Given the description of an element on the screen output the (x, y) to click on. 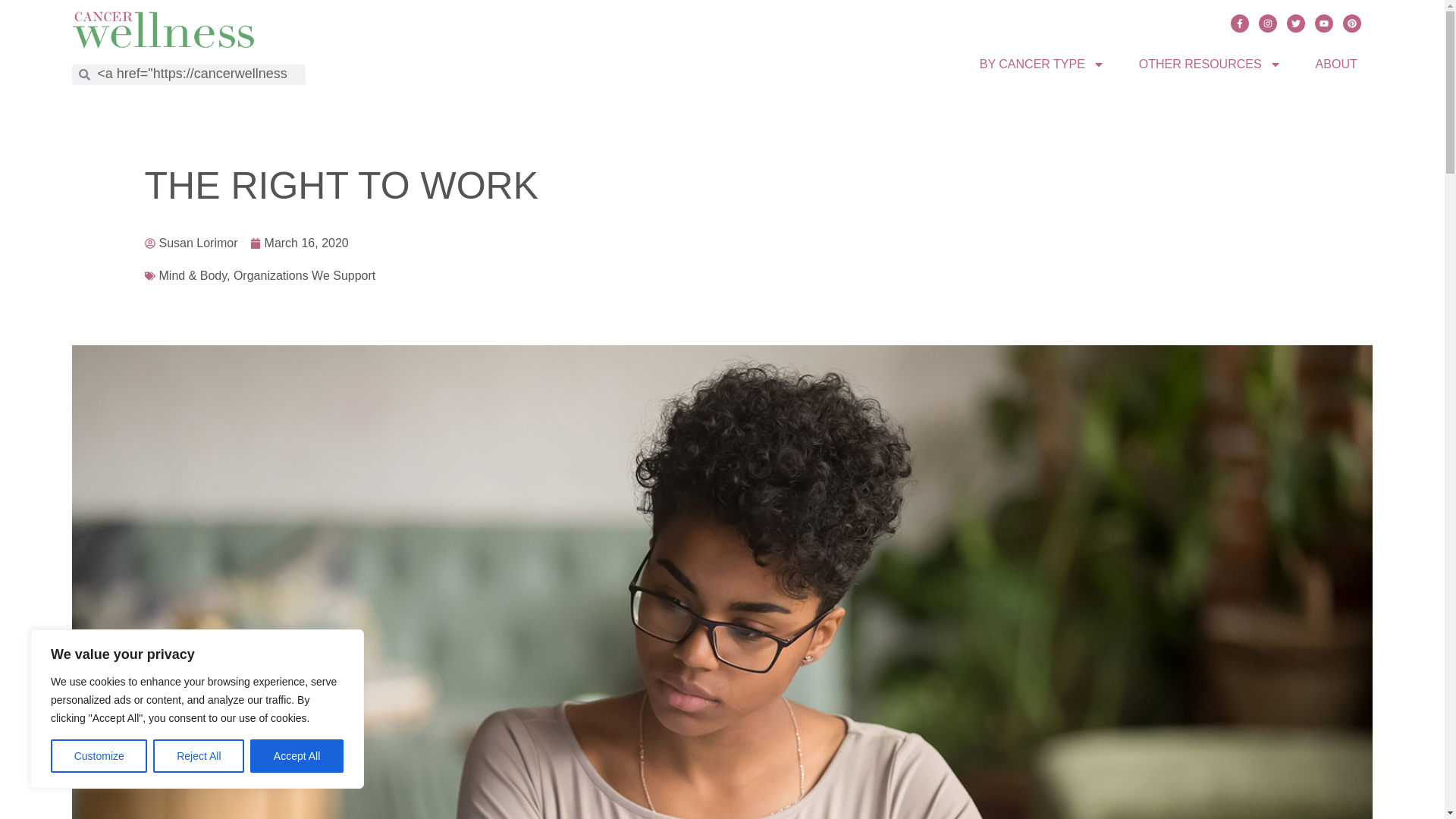
Reject All (198, 756)
Customize (98, 756)
BY CANCER TYPE (1041, 63)
Accept All (296, 756)
